Given the description of an element on the screen output the (x, y) to click on. 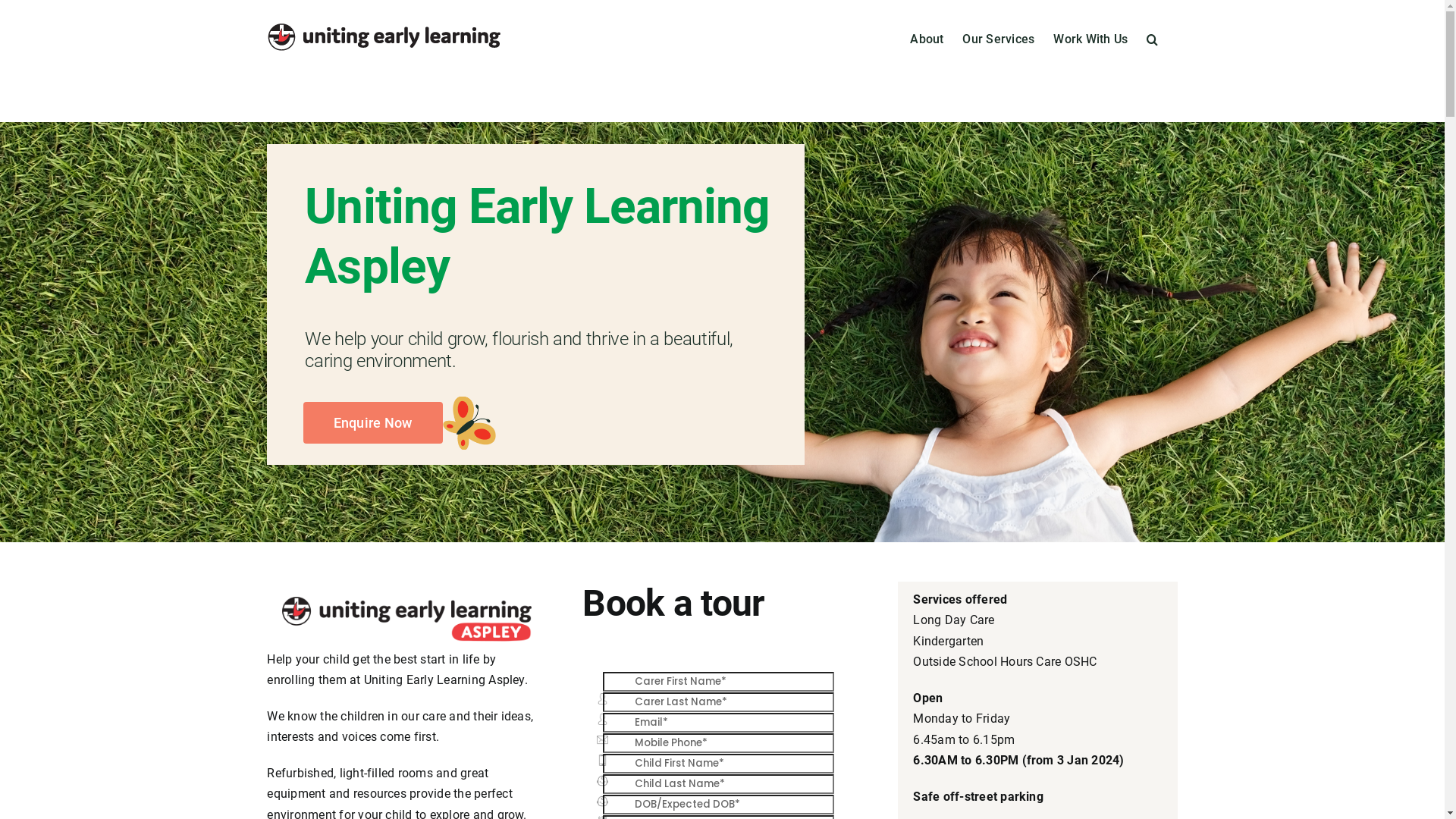
About Element type: text (926, 38)
Asset 11xxxhdpi Element type: hover (406, 618)
Our Services Element type: text (998, 38)
Search Element type: hover (1151, 38)
Asset 12 Element type: hover (468, 422)
Enquire Now Element type: text (372, 422)
Work With Us Element type: text (1090, 38)
